Given the description of an element on the screen output the (x, y) to click on. 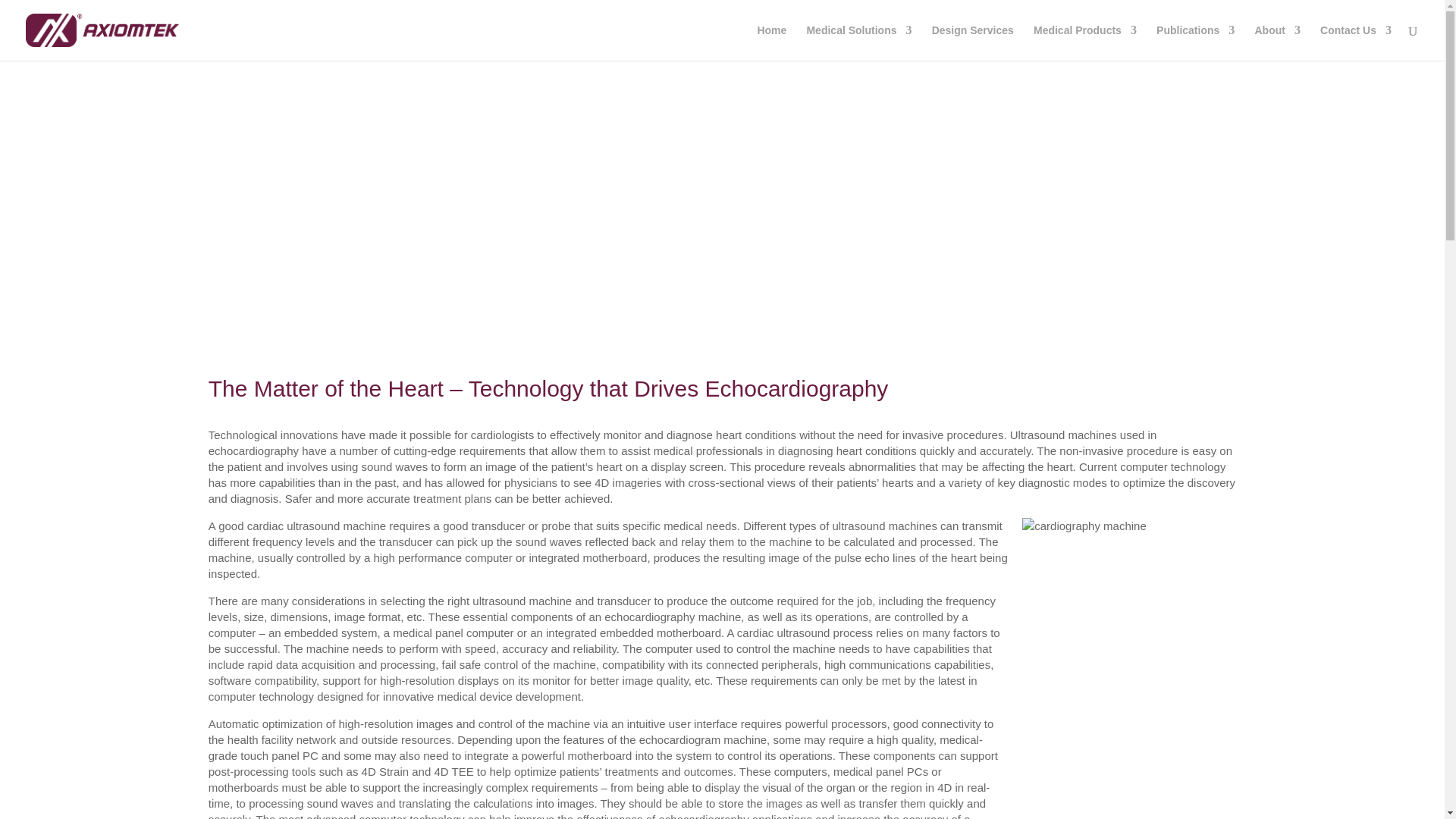
Design Services (972, 42)
Contact Us (1355, 42)
Medical Solutions (858, 42)
About (1276, 42)
Publications (1195, 42)
Medical Products (1085, 42)
